Given the description of an element on the screen output the (x, y) to click on. 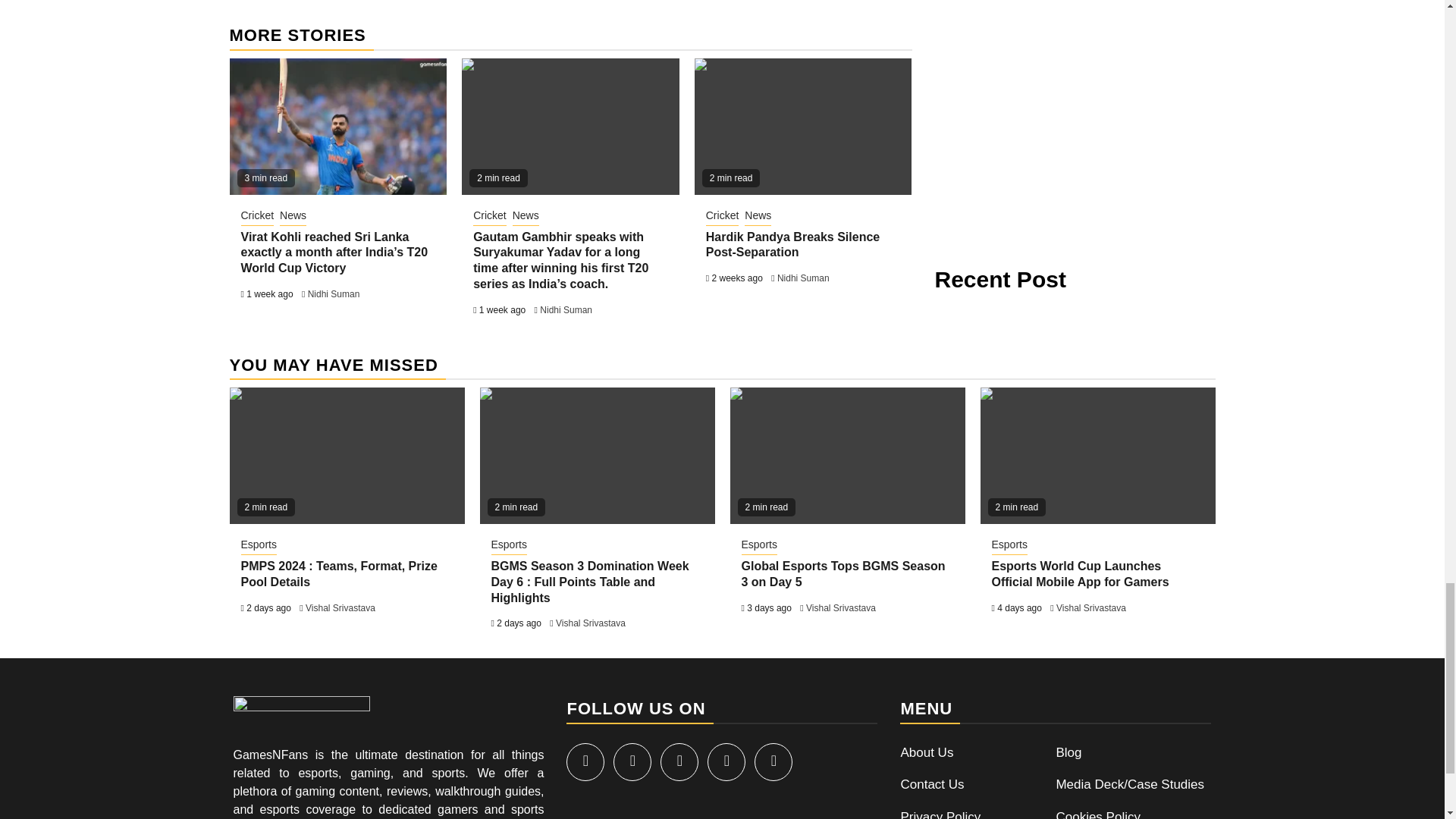
News (292, 217)
Cricket (258, 217)
